Given the description of an element on the screen output the (x, y) to click on. 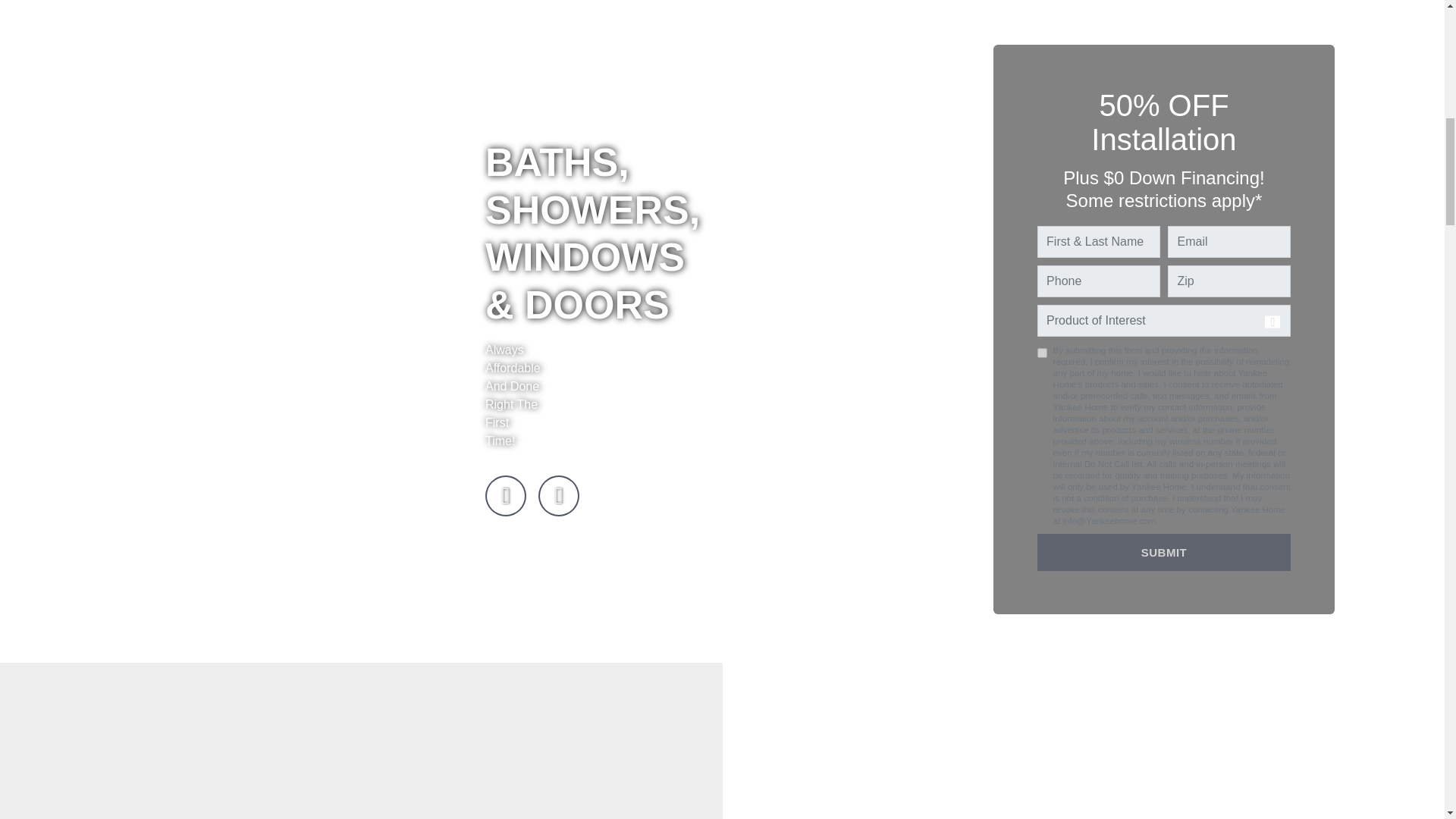
Submit (1163, 551)
